Given the description of an element on the screen output the (x, y) to click on. 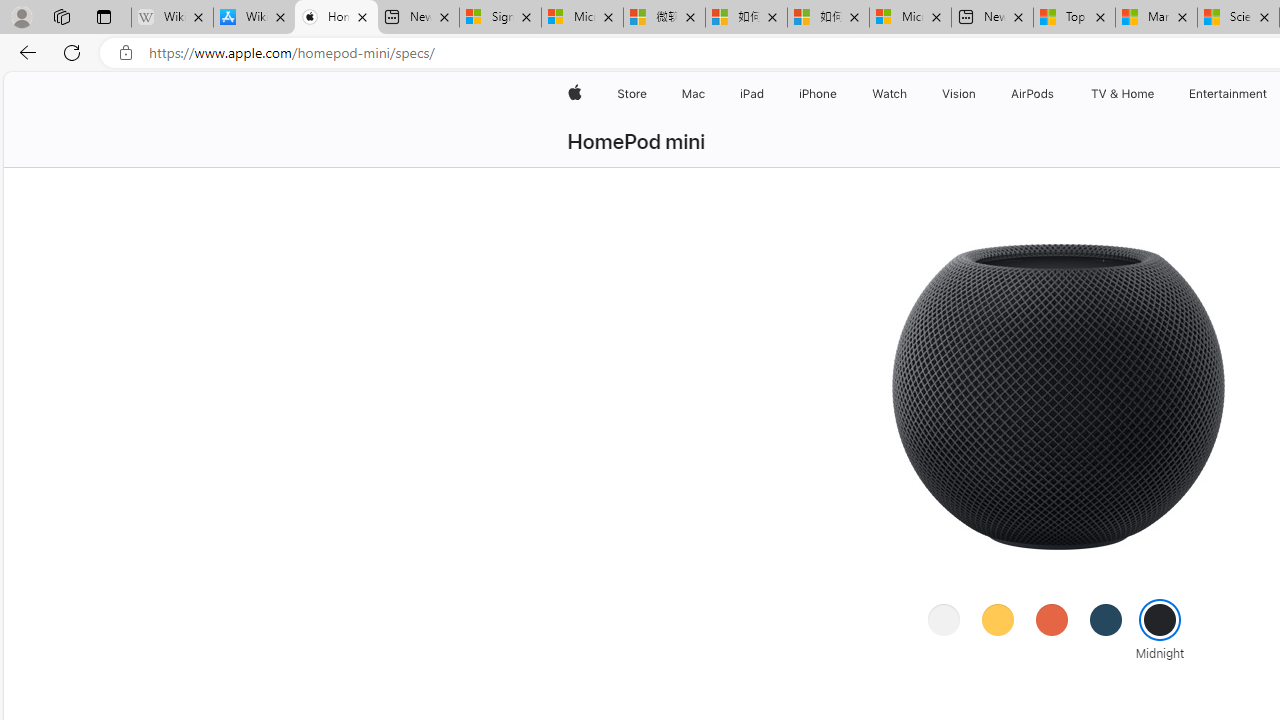
iPhone menu (840, 93)
HomePod mini (636, 142)
iPad menu (767, 93)
Apple (574, 93)
Mac (692, 93)
iPad (750, 93)
White (943, 619)
Vision (959, 93)
Vision (959, 93)
Midnight (1160, 619)
AirPods (1032, 93)
